Given the description of an element on the screen output the (x, y) to click on. 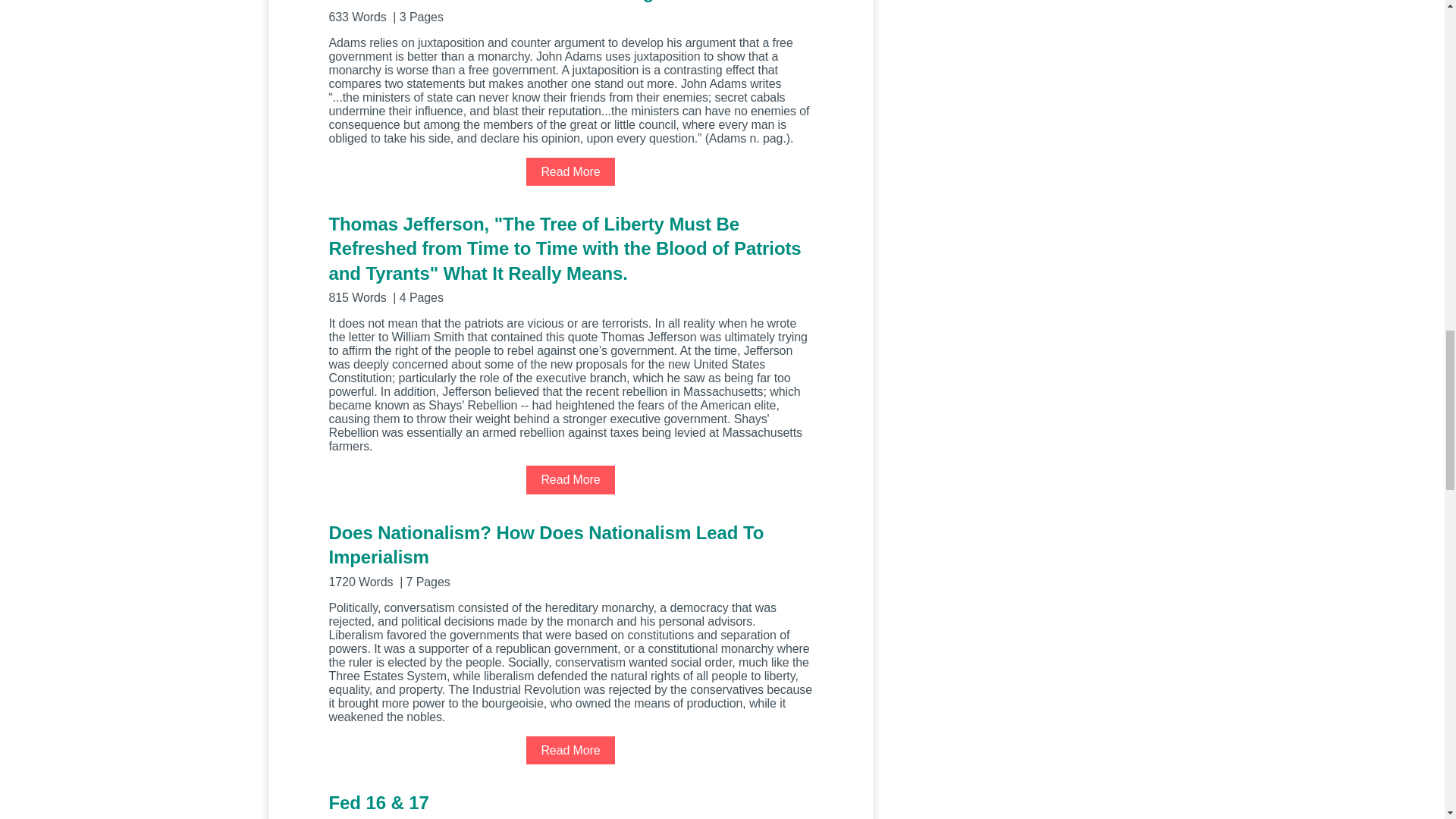
Read More (569, 171)
Does Nationalism? How Does Nationalism Lead To Imperialism (570, 554)
Read More (569, 750)
Read More (569, 479)
